Given the description of an element on the screen output the (x, y) to click on. 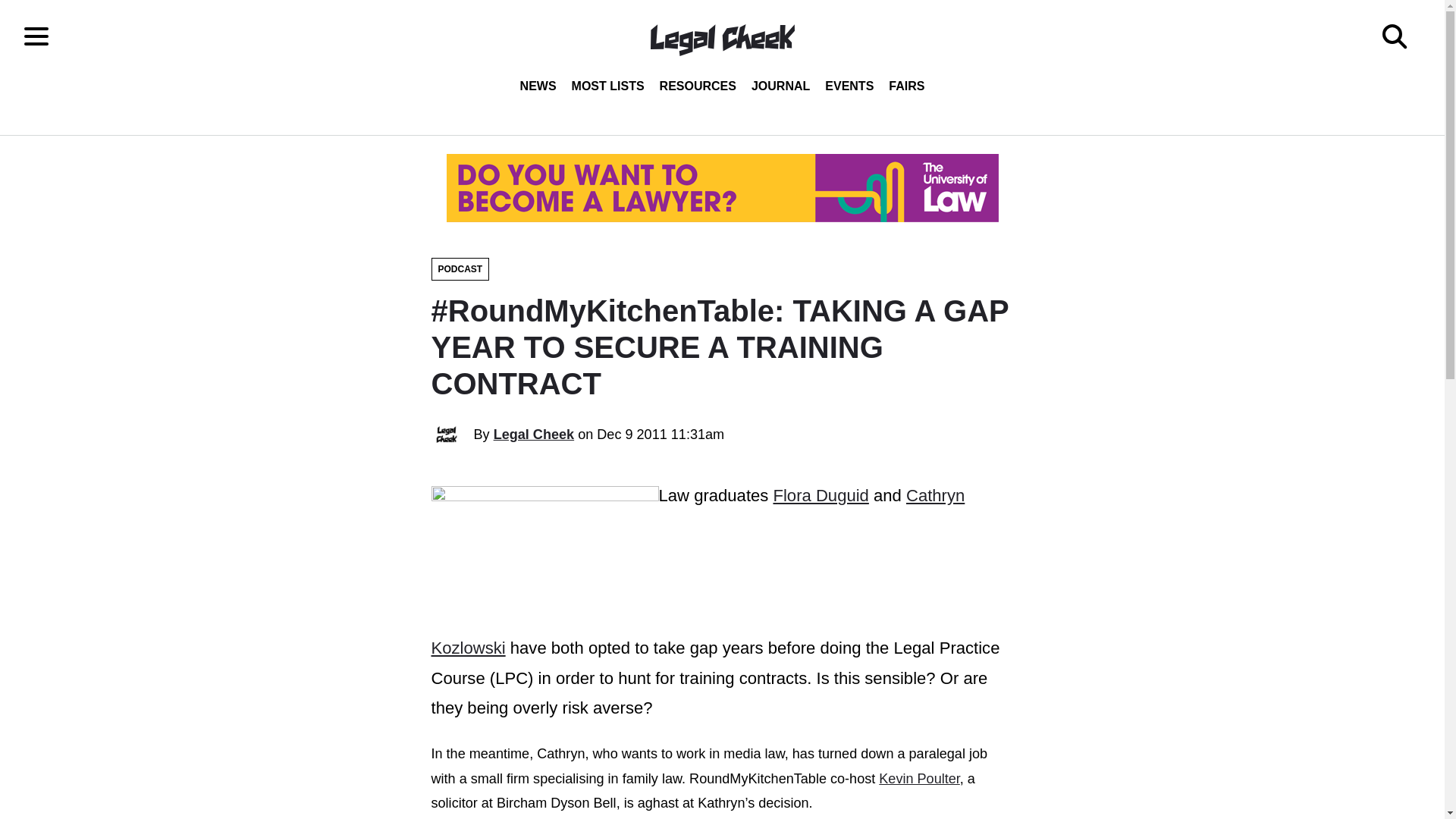
advertisement (721, 187)
Legal Cheek (534, 434)
JOURNAL (780, 86)
FAIRS (905, 86)
RESOURCES (698, 86)
Kevin Poulter (919, 778)
Cathryn Kozlowski (696, 571)
EVENTS (848, 86)
MOST LISTS (608, 86)
Alex, Cathryn, Flora, Kevin (544, 544)
Flora Duguid (820, 495)
NEWS (538, 86)
PODCAST (459, 268)
